Given the description of an element on the screen output the (x, y) to click on. 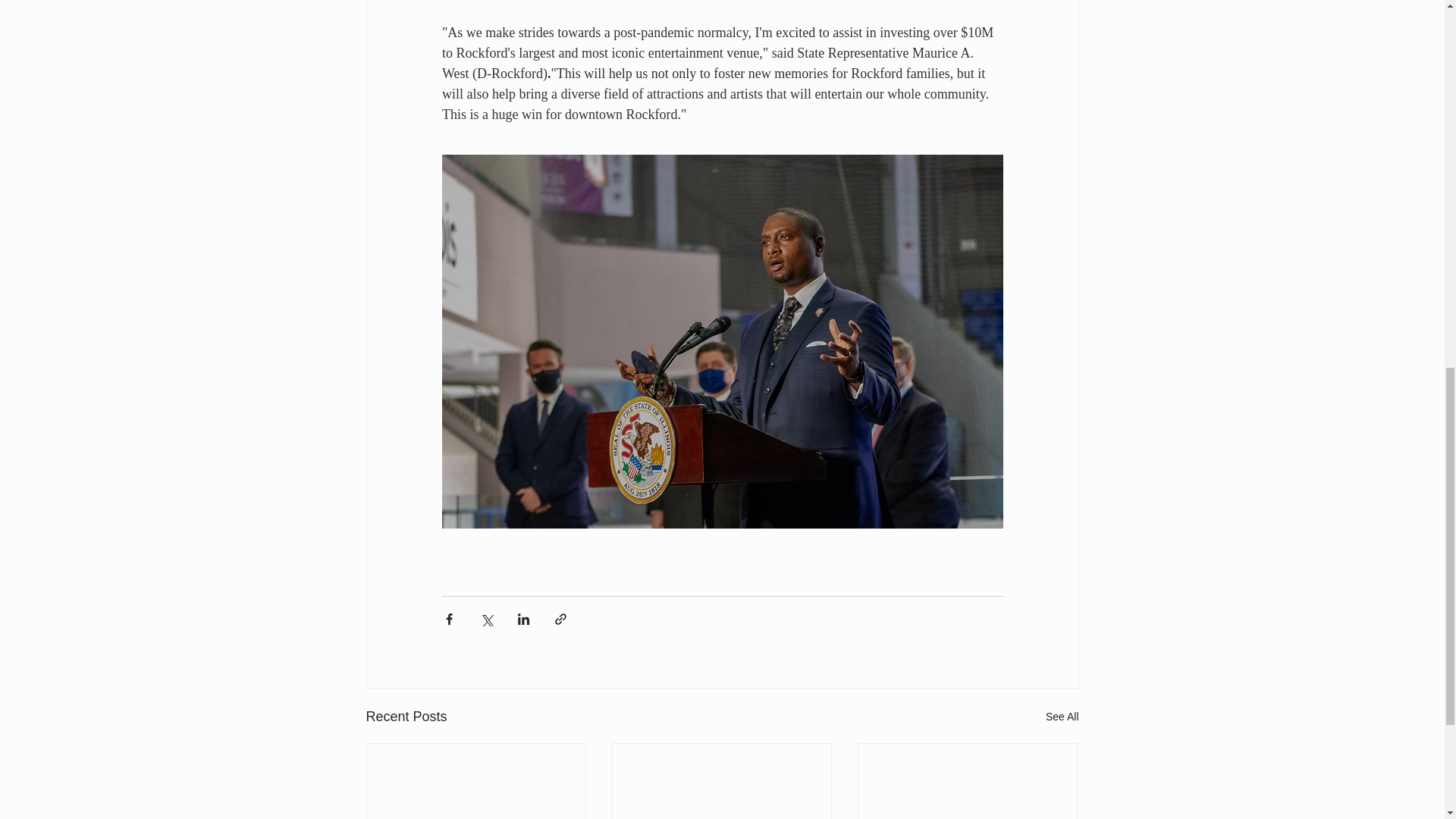
See All (1061, 716)
